Given the description of an element on the screen output the (x, y) to click on. 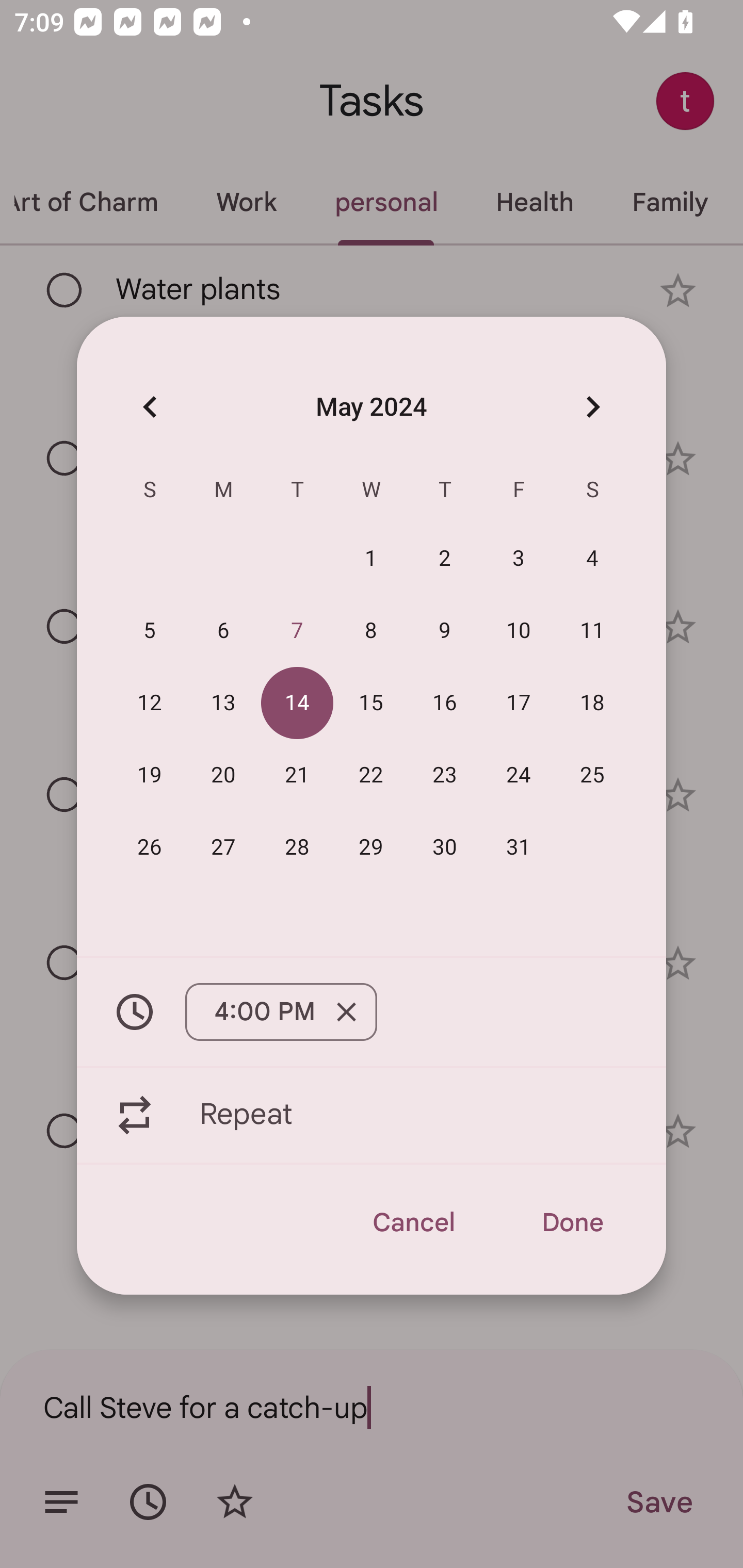
Previous month (149, 406)
Next month (592, 406)
1 01 May 2024 (370, 558)
2 02 May 2024 (444, 558)
3 03 May 2024 (518, 558)
4 04 May 2024 (592, 558)
5 05 May 2024 (149, 630)
6 06 May 2024 (223, 630)
7 07 May 2024 (297, 630)
8 08 May 2024 (370, 630)
9 09 May 2024 (444, 630)
10 10 May 2024 (518, 630)
11 11 May 2024 (592, 630)
12 12 May 2024 (149, 702)
13 13 May 2024 (223, 702)
14 14 May 2024 (297, 702)
15 15 May 2024 (370, 702)
16 16 May 2024 (444, 702)
17 17 May 2024 (518, 702)
18 18 May 2024 (592, 702)
19 19 May 2024 (149, 774)
20 20 May 2024 (223, 774)
21 21 May 2024 (297, 774)
22 22 May 2024 (370, 774)
23 23 May 2024 (444, 774)
24 24 May 2024 (518, 774)
25 25 May 2024 (592, 774)
26 26 May 2024 (149, 846)
27 27 May 2024 (223, 846)
28 28 May 2024 (297, 846)
29 29 May 2024 (370, 846)
30 30 May 2024 (444, 846)
31 31 May 2024 (518, 846)
4:00 PM Remove 4:00 PM (371, 1012)
4:00 PM Remove 4:00 PM (281, 1012)
Repeat (371, 1114)
Cancel (412, 1222)
Done (571, 1222)
